Given the description of an element on the screen output the (x, y) to click on. 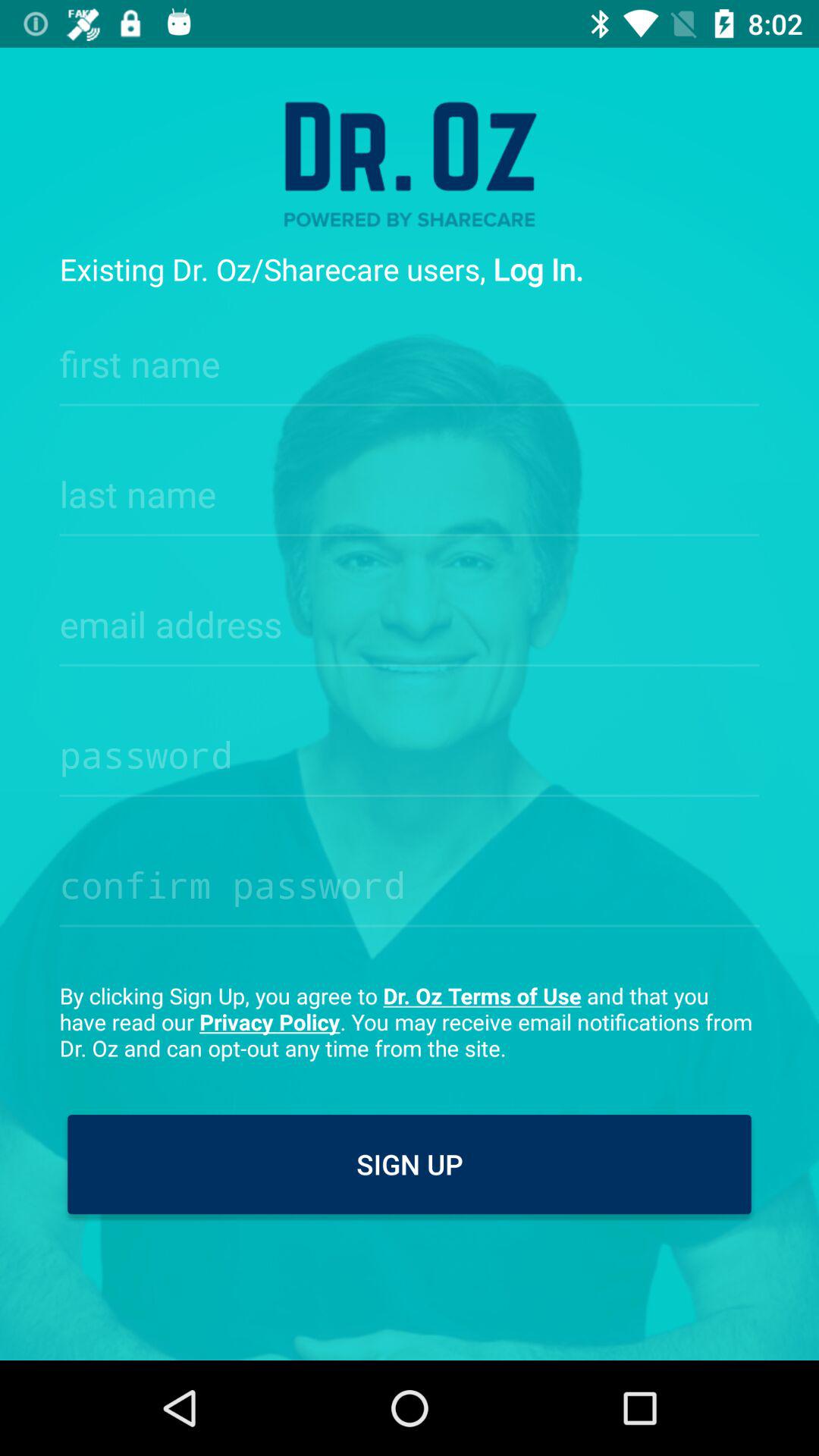
password blue bar (409, 750)
